Given the description of an element on the screen output the (x, y) to click on. 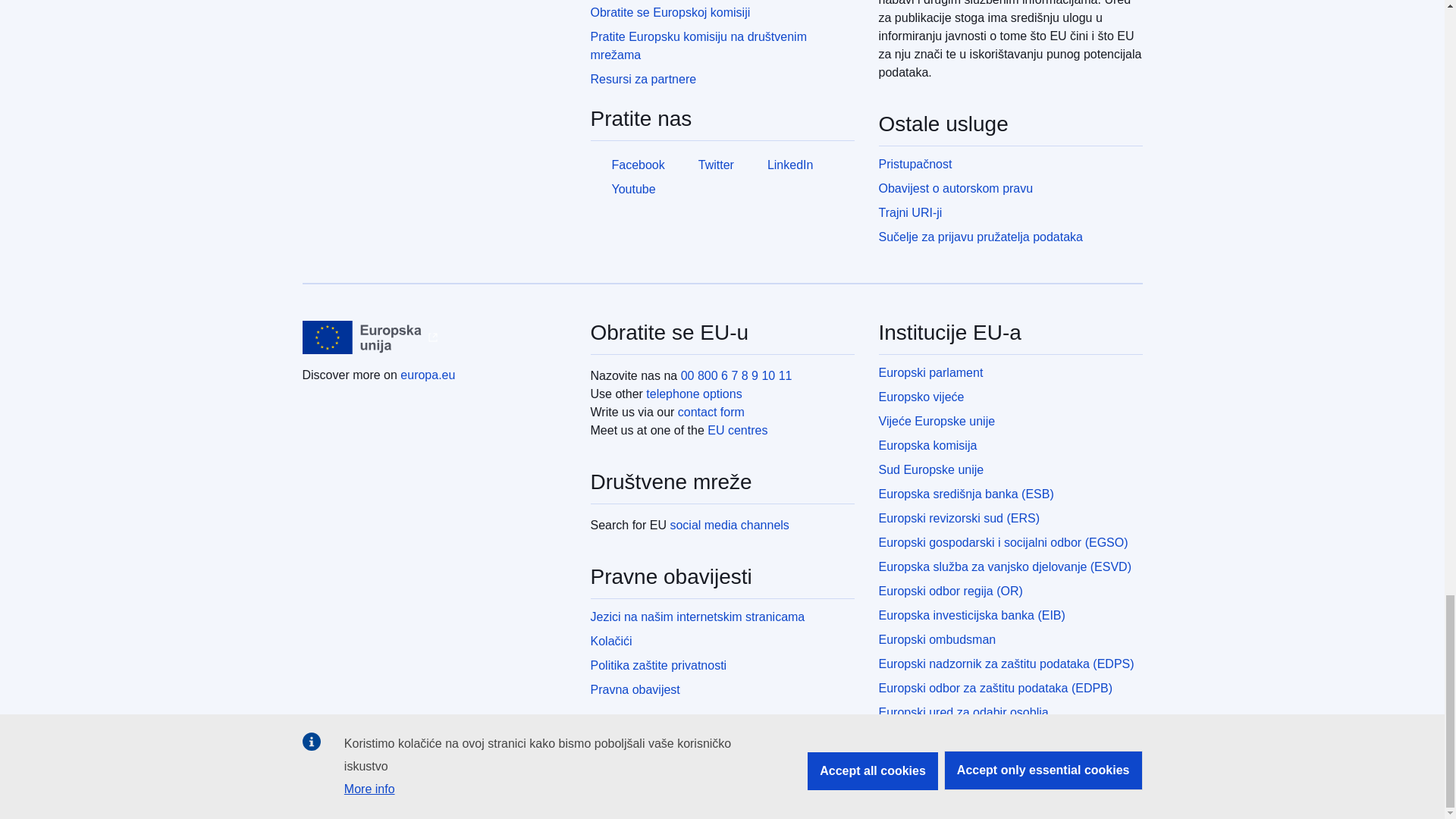
European Union (361, 337)
